Given the description of an element on the screen output the (x, y) to click on. 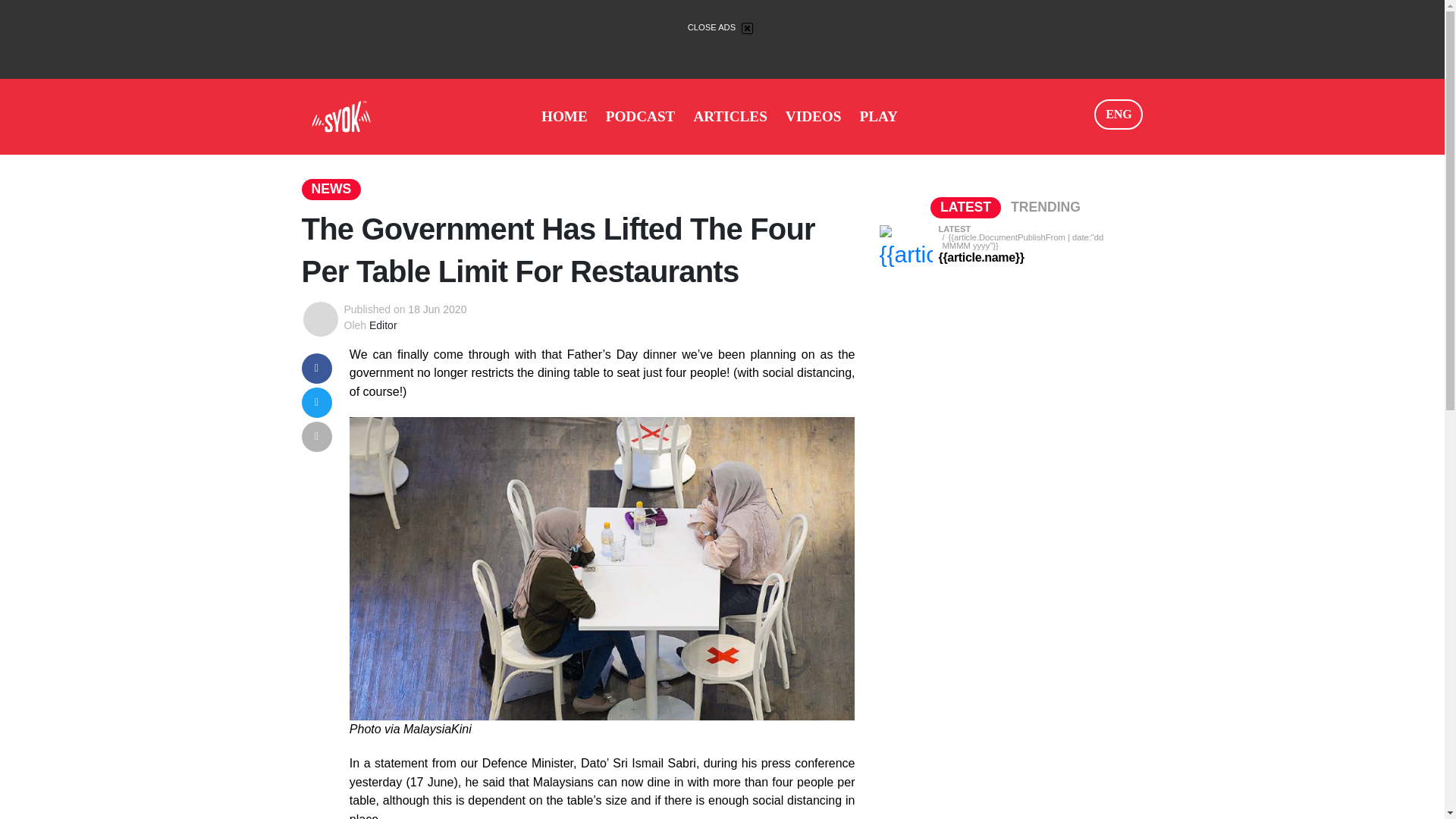
Tweet (316, 400)
PODCAST (640, 116)
ENG (1118, 114)
HOME (564, 116)
Share on Facebook (316, 367)
VIDEOS (813, 116)
CLOSE ADS (721, 27)
PLAY (877, 116)
ARTICLES (730, 116)
